Given the description of an element on the screen output the (x, y) to click on. 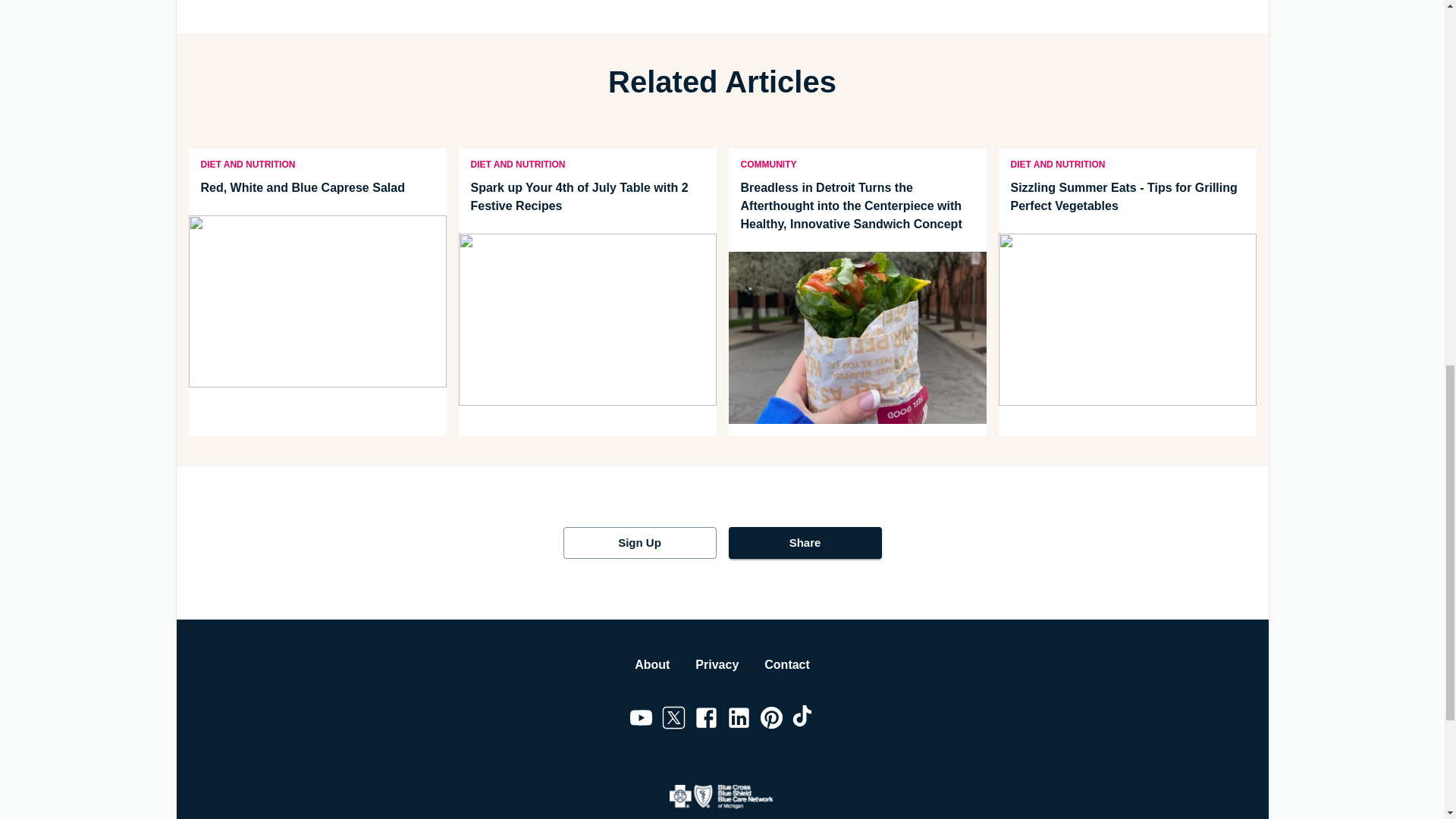
Sizzling Summer Eats - Tips for Grilling Perfect Vegetables (1126, 197)
DIET AND NUTRITION (247, 163)
DIET AND NUTRITION (517, 163)
COMMUNITY (768, 163)
Red, White and Blue Caprese Salad (316, 188)
Spark up Your 4th of July Table with 2 Festive Recipes (587, 197)
Sign Up (639, 542)
DIET AND NUTRITION (1056, 163)
